Given the description of an element on the screen output the (x, y) to click on. 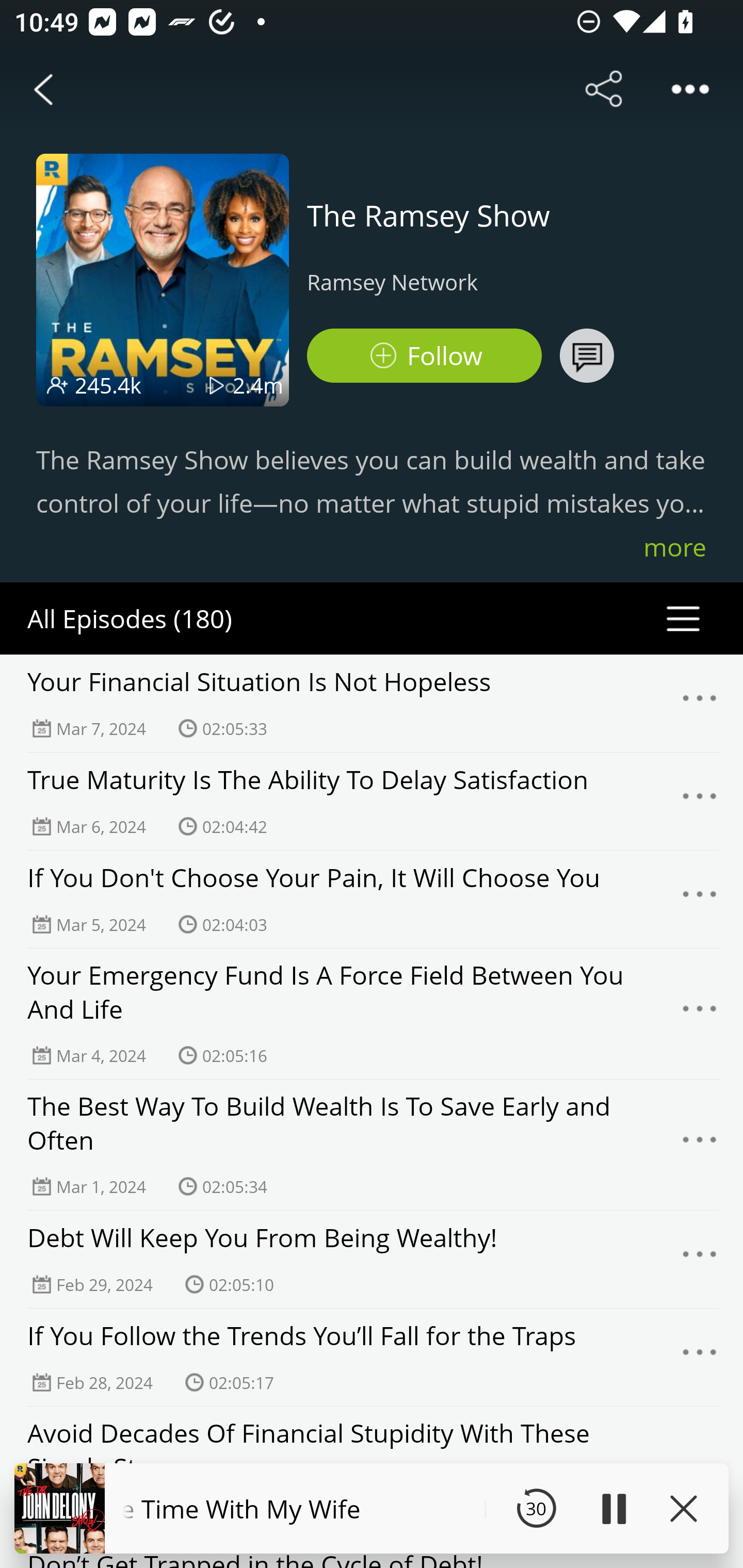
Back (43, 88)
Podbean Follow (423, 355)
245.4k (108, 384)
more (674, 546)
Menu (699, 703)
Menu (699, 801)
Menu (699, 899)
Menu (699, 1013)
Menu (699, 1145)
Menu (699, 1259)
Menu (699, 1356)
Play (613, 1507)
30 Seek Backward (536, 1508)
